Given the description of an element on the screen output the (x, y) to click on. 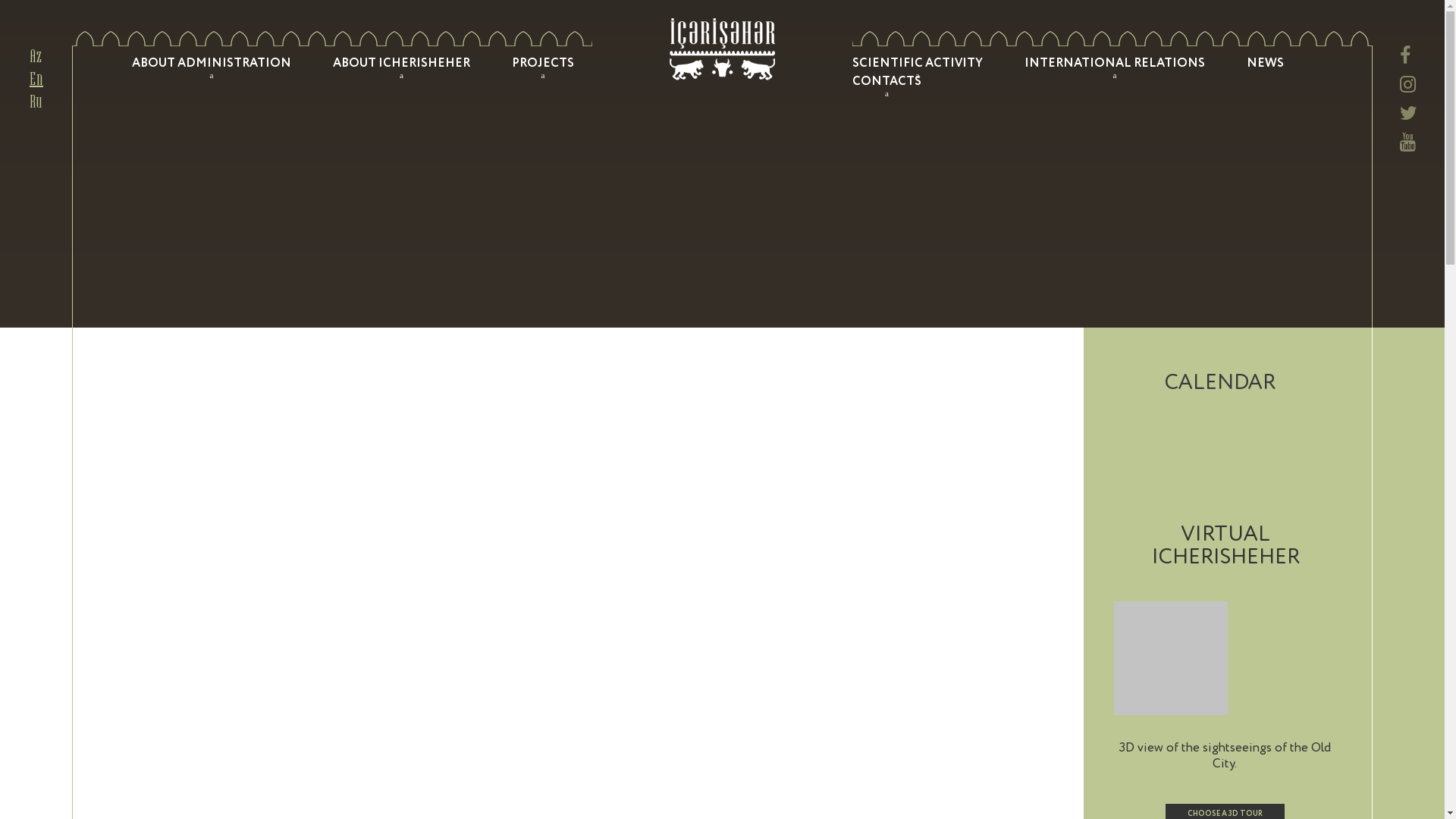
Ru Element type: text (35, 102)
PROJECTS Element type: text (542, 63)
ABOUT ICHERISHEHER Element type: text (401, 63)
INTERNATIONAL RELATIONS Element type: text (1114, 63)
Az Element type: text (35, 57)
ABOUT ADMINISTRATION Element type: text (211, 63)
NEWS Element type: text (1264, 63)
CONTACTS Element type: text (886, 81)
En Element type: text (36, 79)
SCIENTIFIC ACTIVITY Element type: text (917, 63)
